Given the description of an element on the screen output the (x, y) to click on. 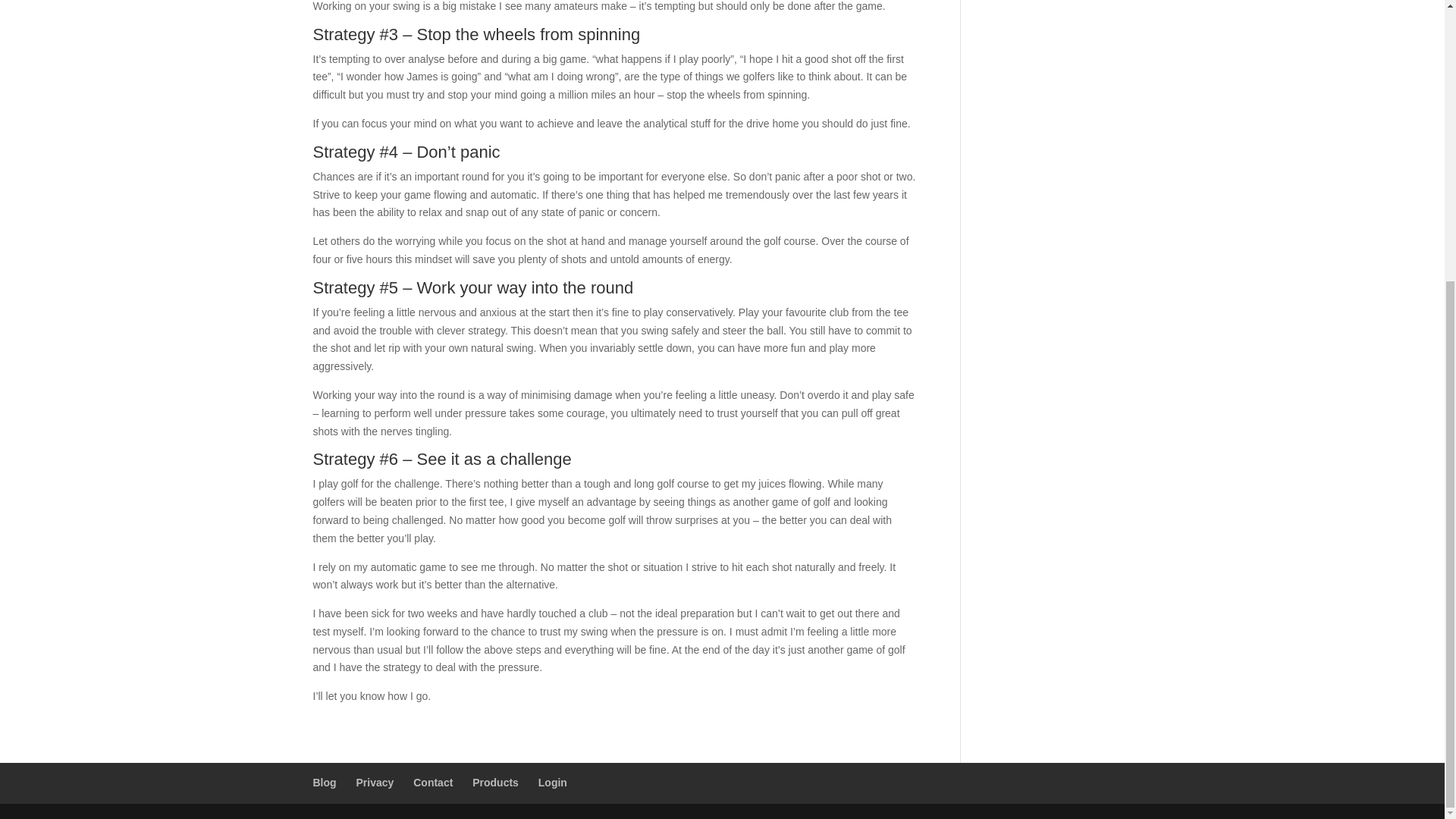
Privacy (375, 782)
Contact (432, 782)
Blog (324, 782)
Login (552, 782)
Products (494, 782)
